Given the description of an element on the screen output the (x, y) to click on. 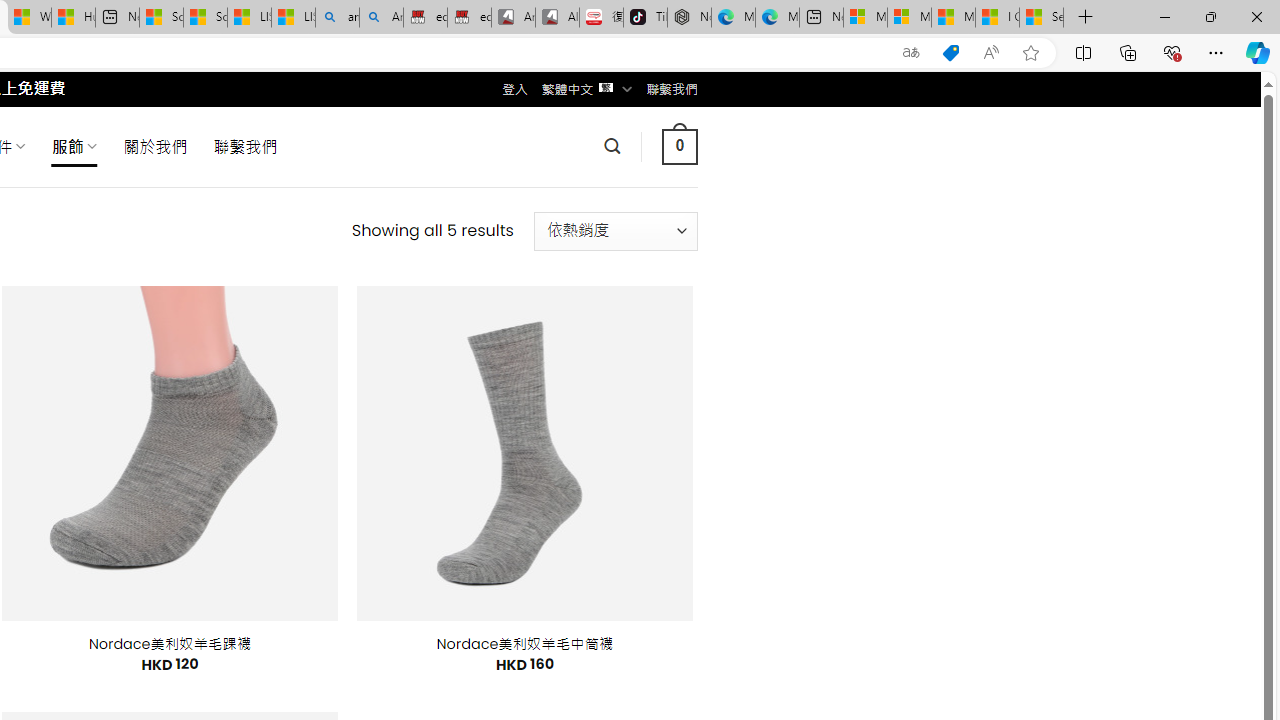
Show translate options (910, 53)
